Given the description of an element on the screen output the (x, y) to click on. 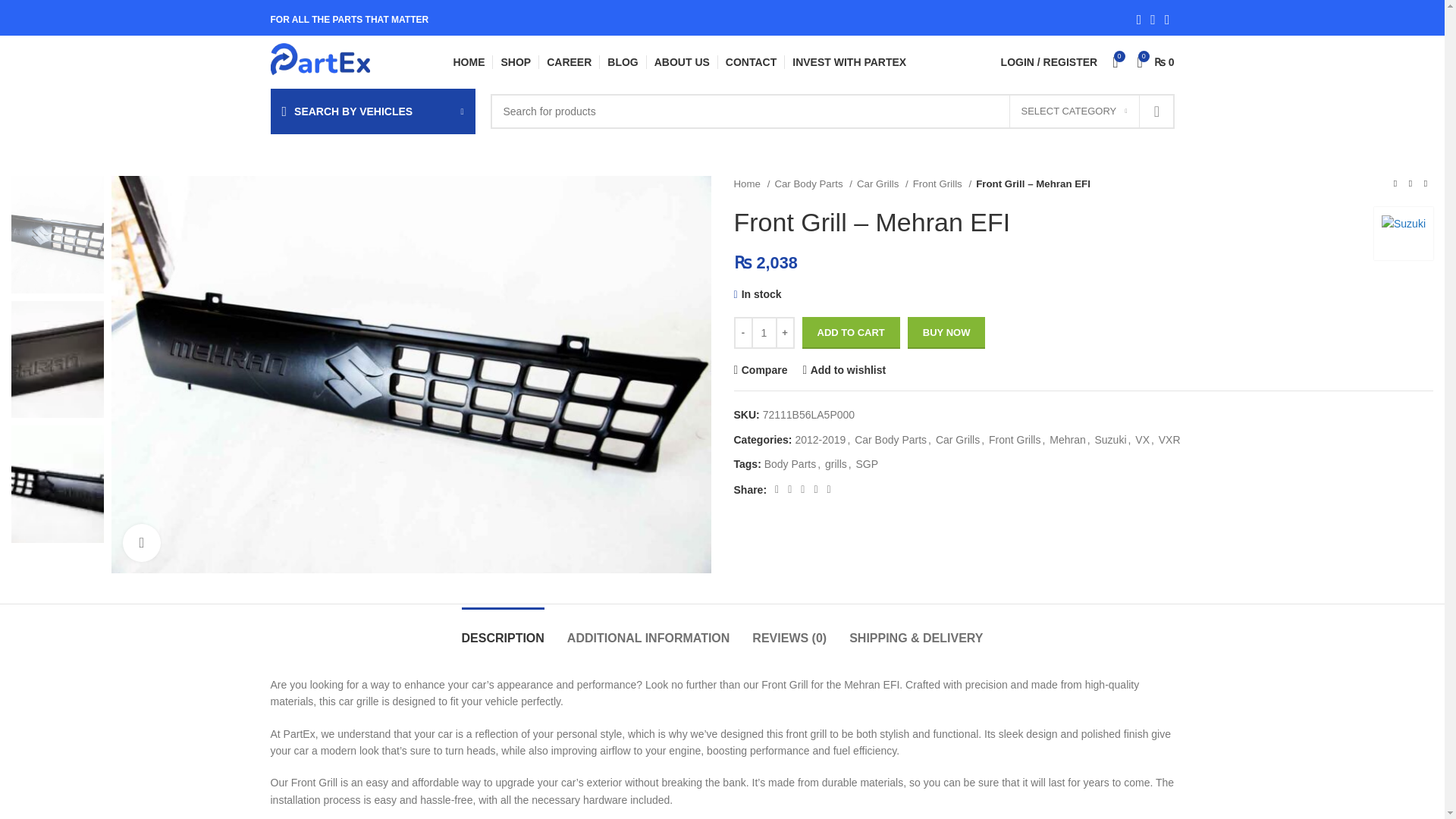
CAREER (569, 61)
BLOG (622, 61)
SELECT CATEGORY (1073, 111)
HOME (468, 61)
INVEST WITH PARTEX (848, 61)
ABOUT US (681, 61)
Shopping cart (1155, 61)
Search for products (831, 111)
CONTACT (750, 61)
Suzuki (1403, 233)
SHOP (515, 61)
My account (1048, 61)
